Given the description of an element on the screen output the (x, y) to click on. 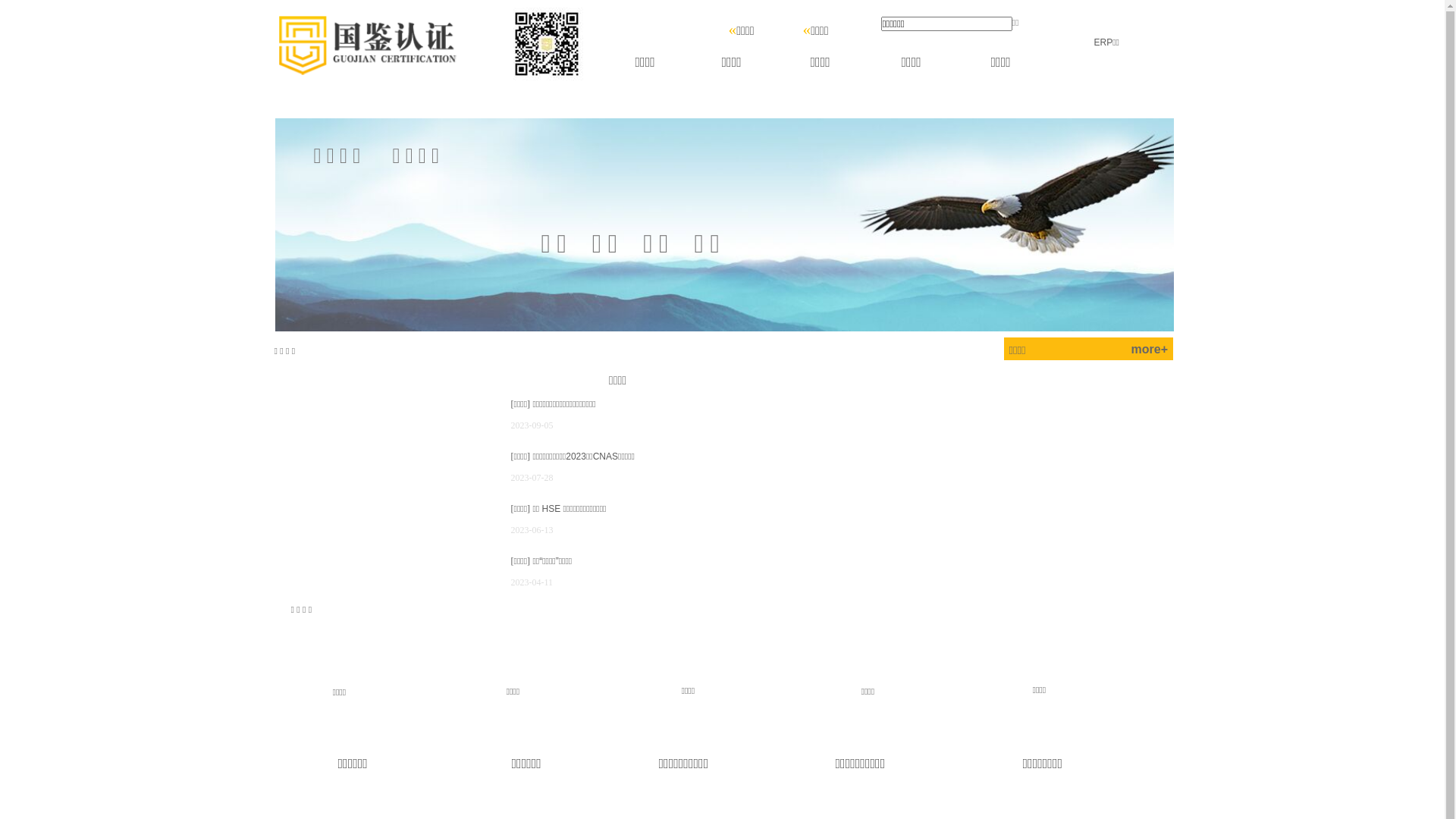
more+ Element type: text (1149, 350)
